Given the description of an element on the screen output the (x, y) to click on. 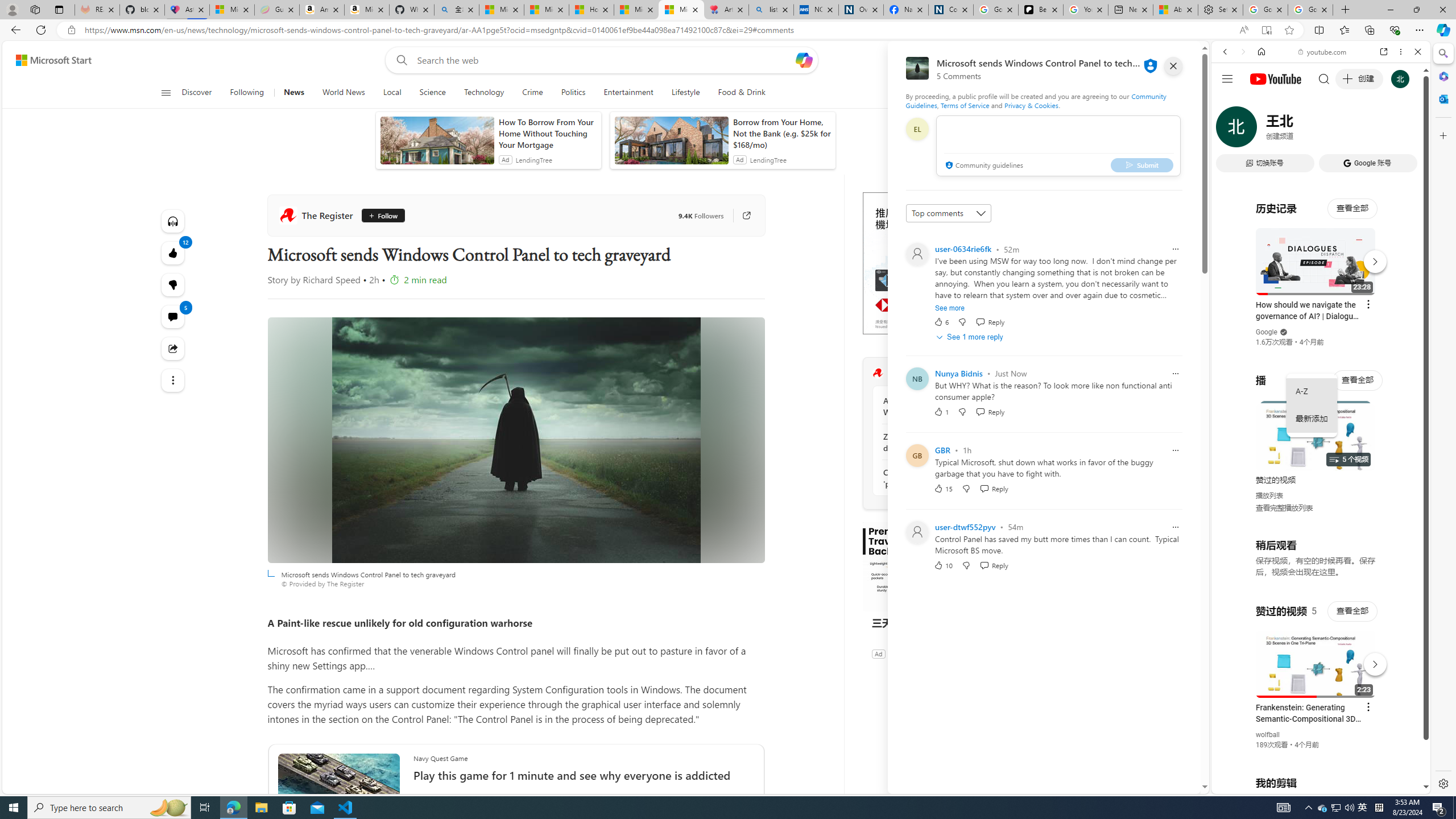
How I Got Rid of Microsoft Edge's Unnecessary Features (591, 9)
Preferences (1403, 129)
WEB   (1230, 130)
Science (432, 92)
Search Filter, VIDEOS (1300, 129)
Open settings (1175, 60)
YouTube - YouTube (1315, 560)
Close Customize pane (1442, 135)
LendingTree (767, 159)
youtube.com (1322, 51)
